Given the description of an element on the screen output the (x, y) to click on. 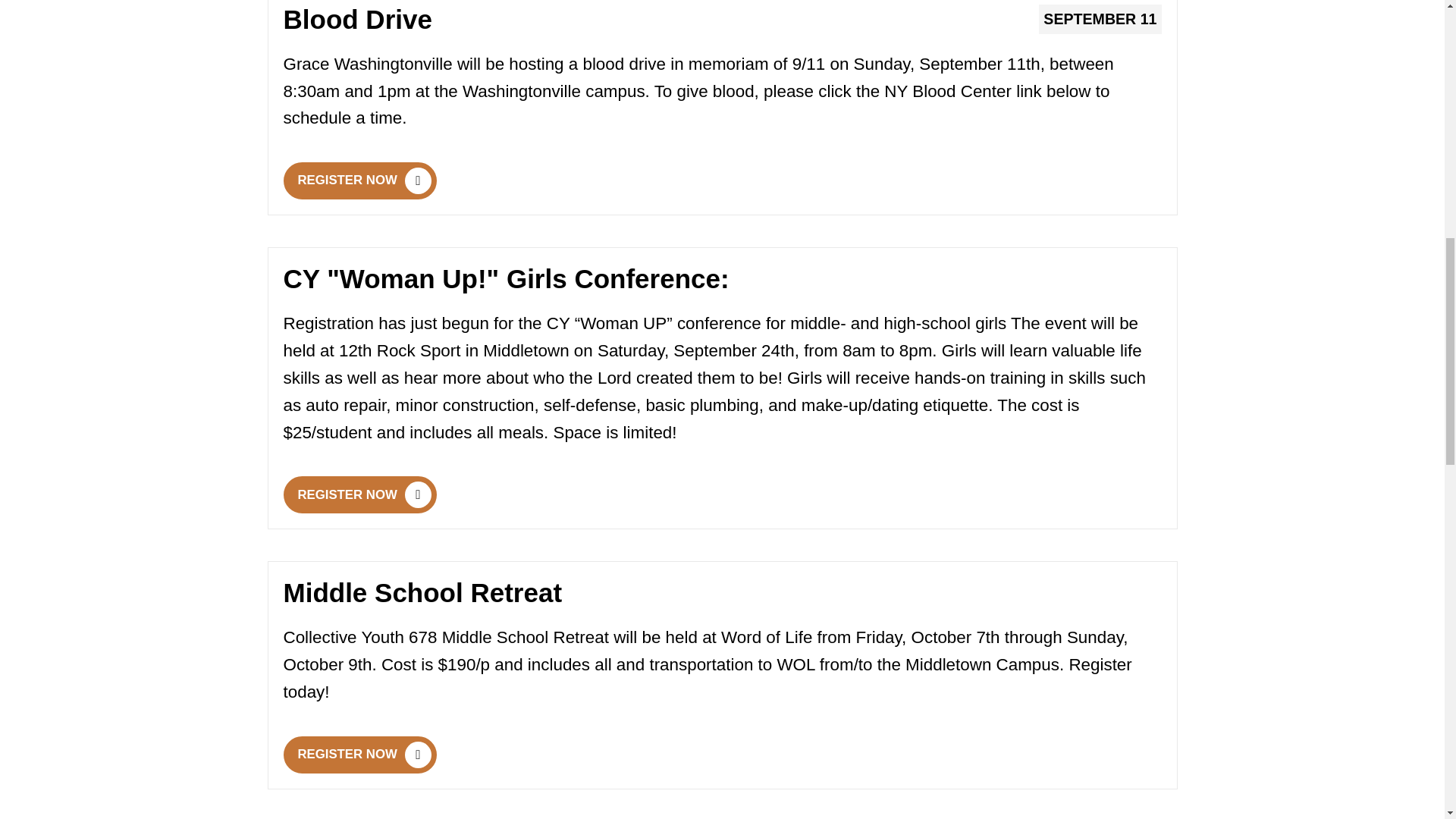
REGISTER NOW (359, 754)
REGISTER NOW (359, 180)
REGISTER NOW (359, 494)
